Given the description of an element on the screen output the (x, y) to click on. 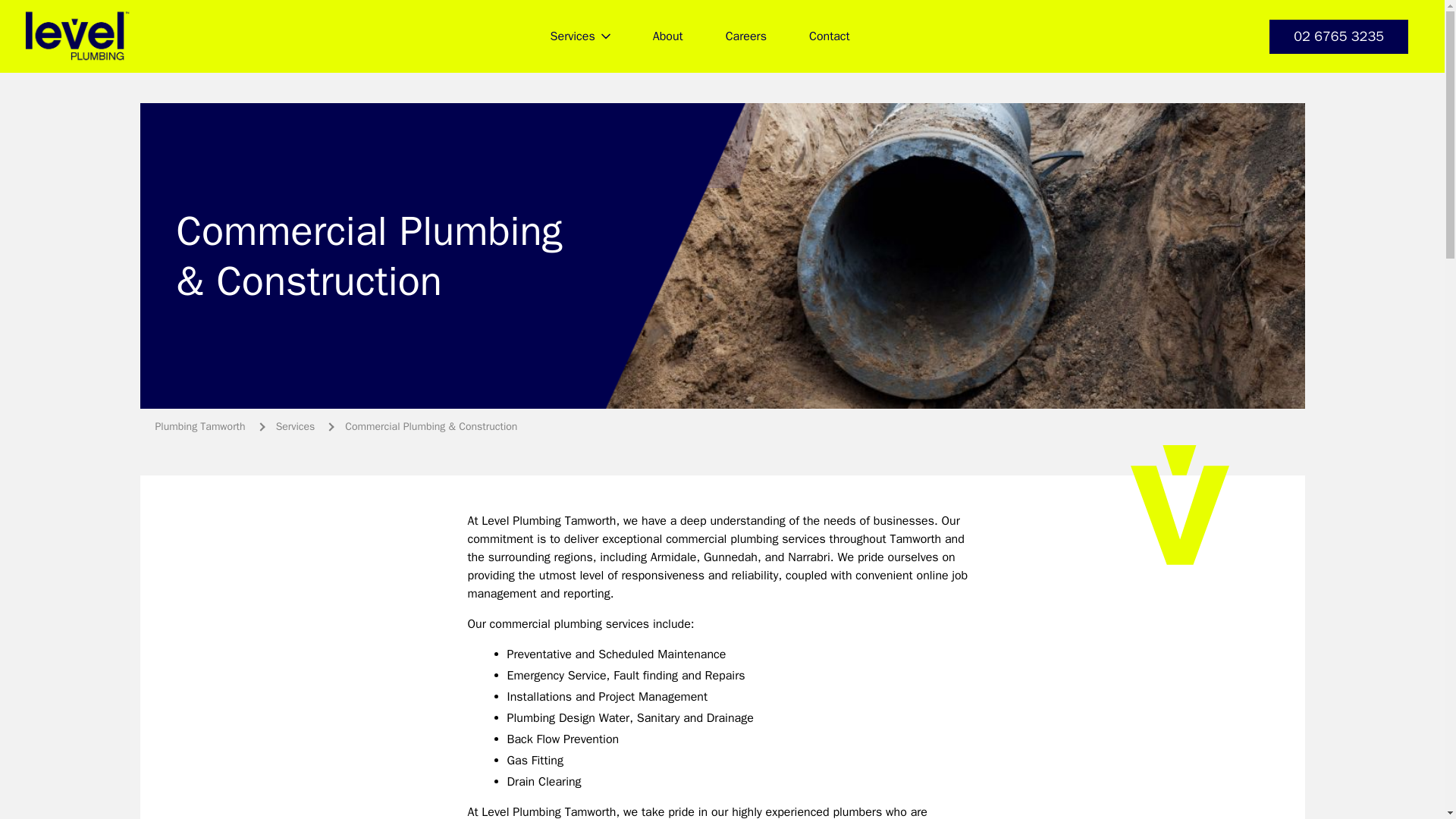
Contact (828, 35)
Services (580, 35)
About (667, 35)
Services (295, 426)
Plumbing Tamworth (199, 426)
Careers (745, 35)
02 6765 3235 (1338, 36)
